Given the description of an element on the screen output the (x, y) to click on. 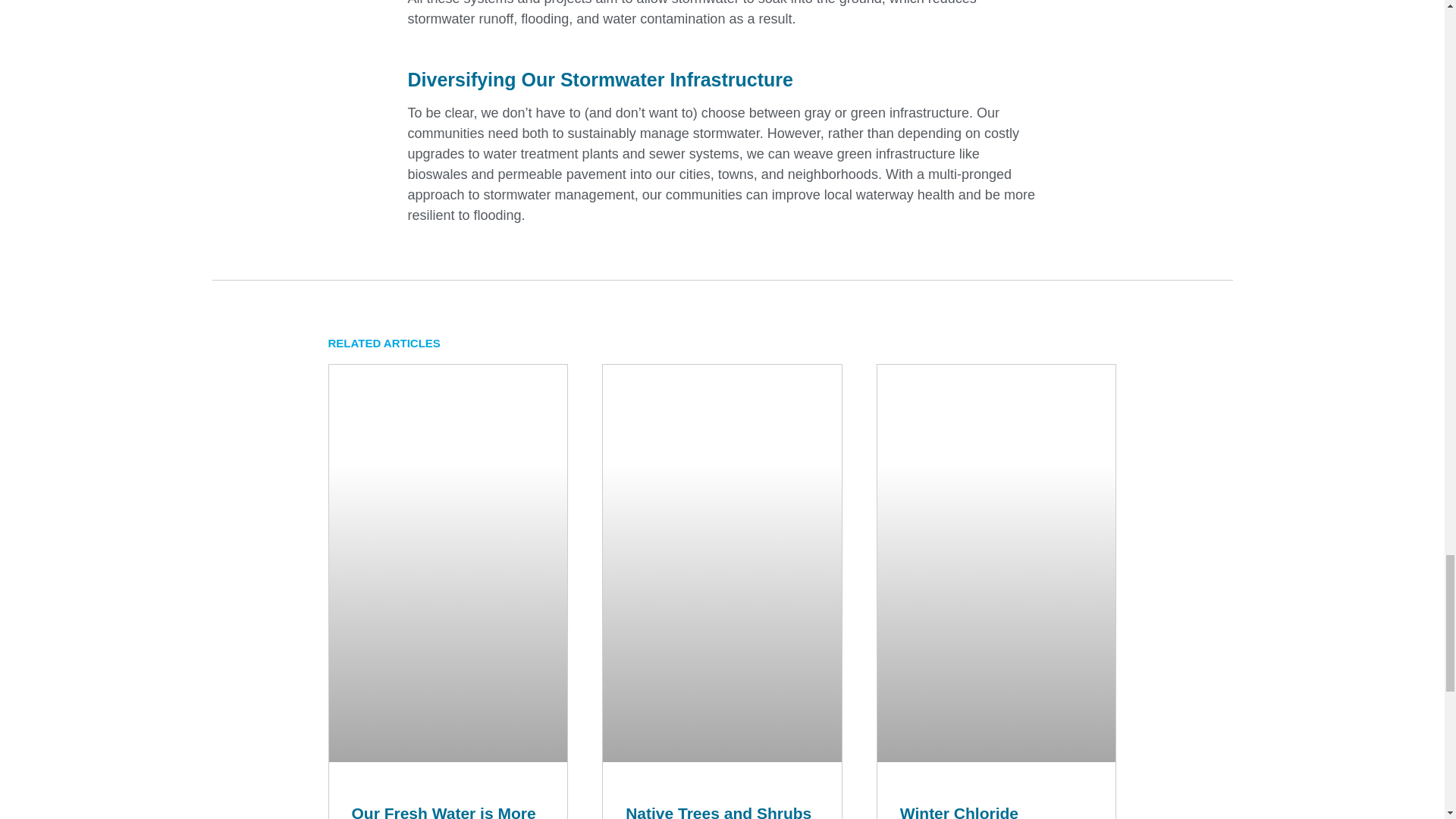
Our Fresh Water is More Precious Than You Think (446, 811)
Native Trees and Shrubs for Wet Areas (718, 811)
